Given the description of an element on the screen output the (x, y) to click on. 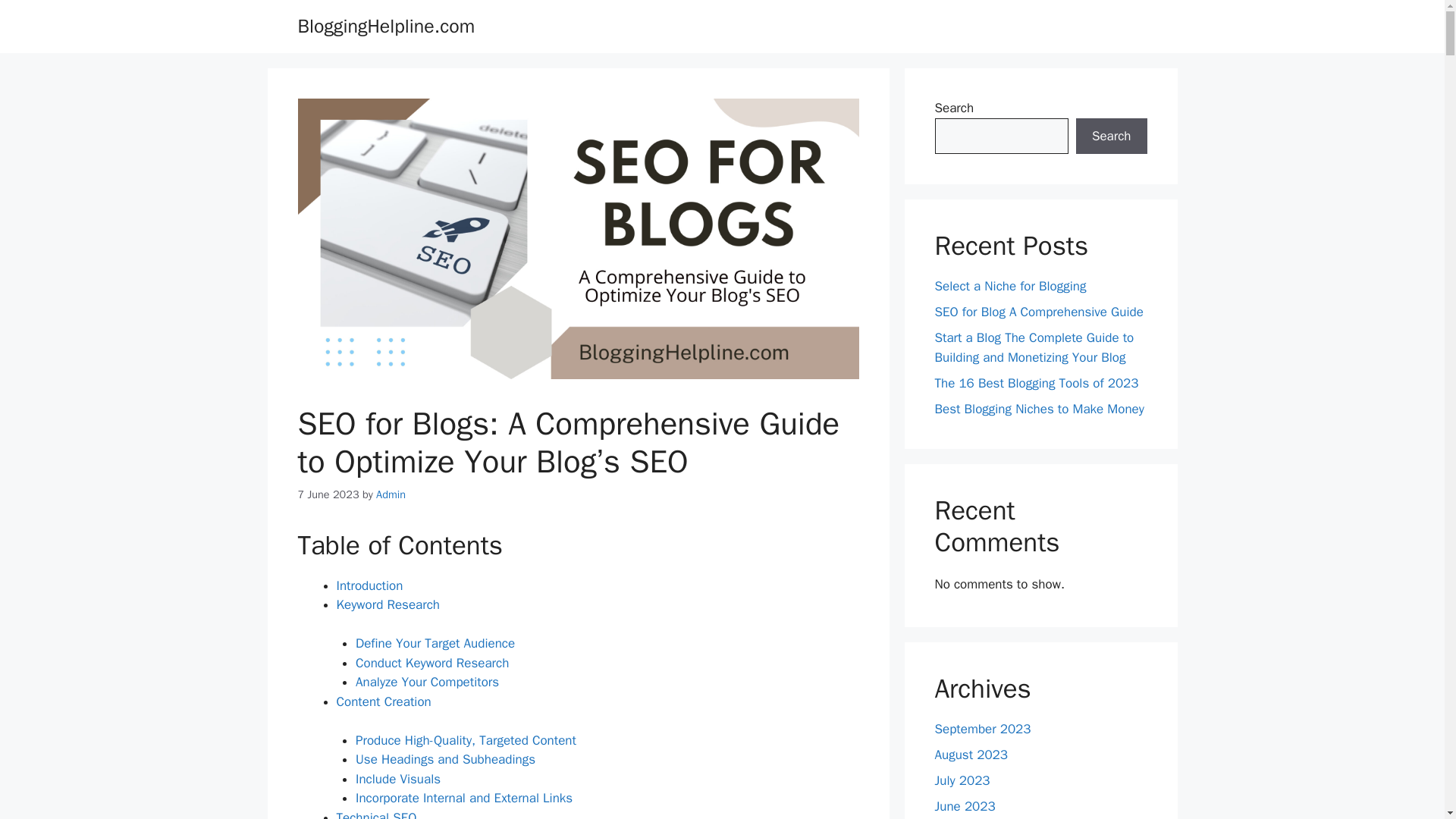
Admin (390, 494)
Use Headings and Subheadings (445, 759)
BloggingHelpline.com (385, 25)
Analyze Your Competitors (427, 682)
Incorporate Internal and External Links (463, 797)
Best Blogging Niches to Make Money (1038, 408)
Introduction (369, 585)
September 2023 (982, 729)
View all posts by Admin (390, 494)
The 16 Best Blogging Tools of 2023 (1036, 382)
